Given the description of an element on the screen output the (x, y) to click on. 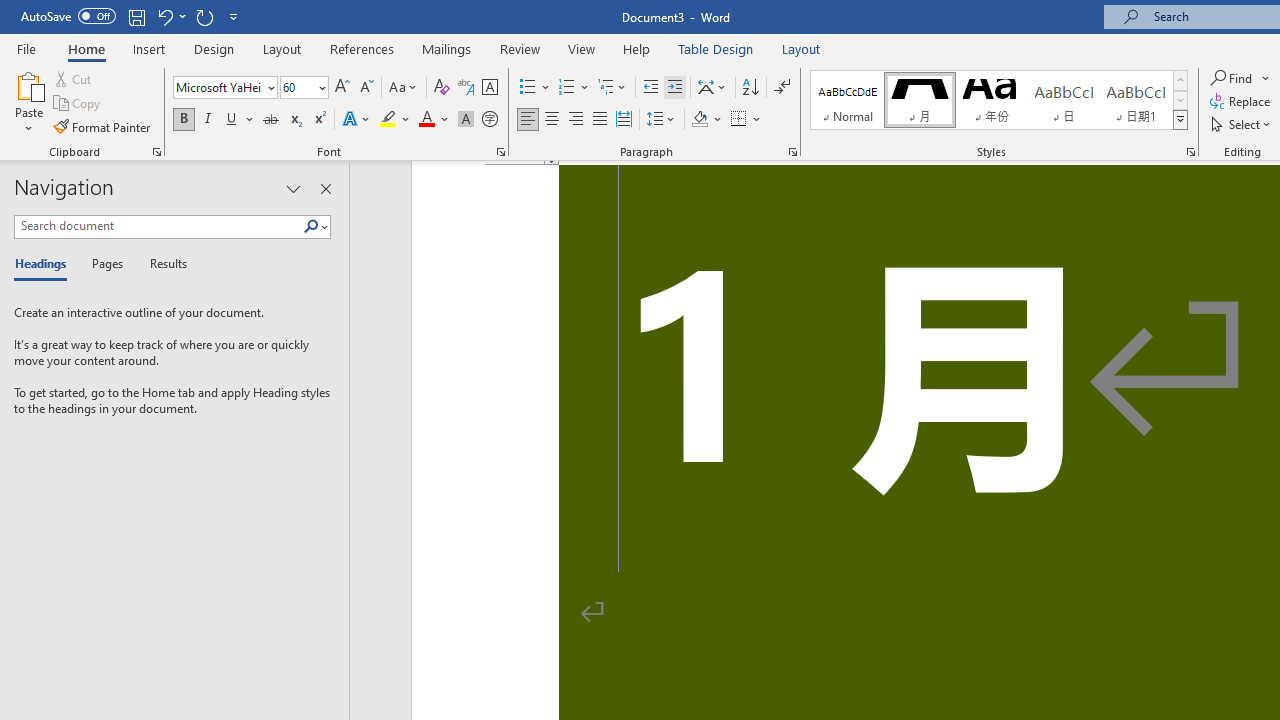
Undo Increase Indent (170, 15)
